Given the description of an element on the screen output the (x, y) to click on. 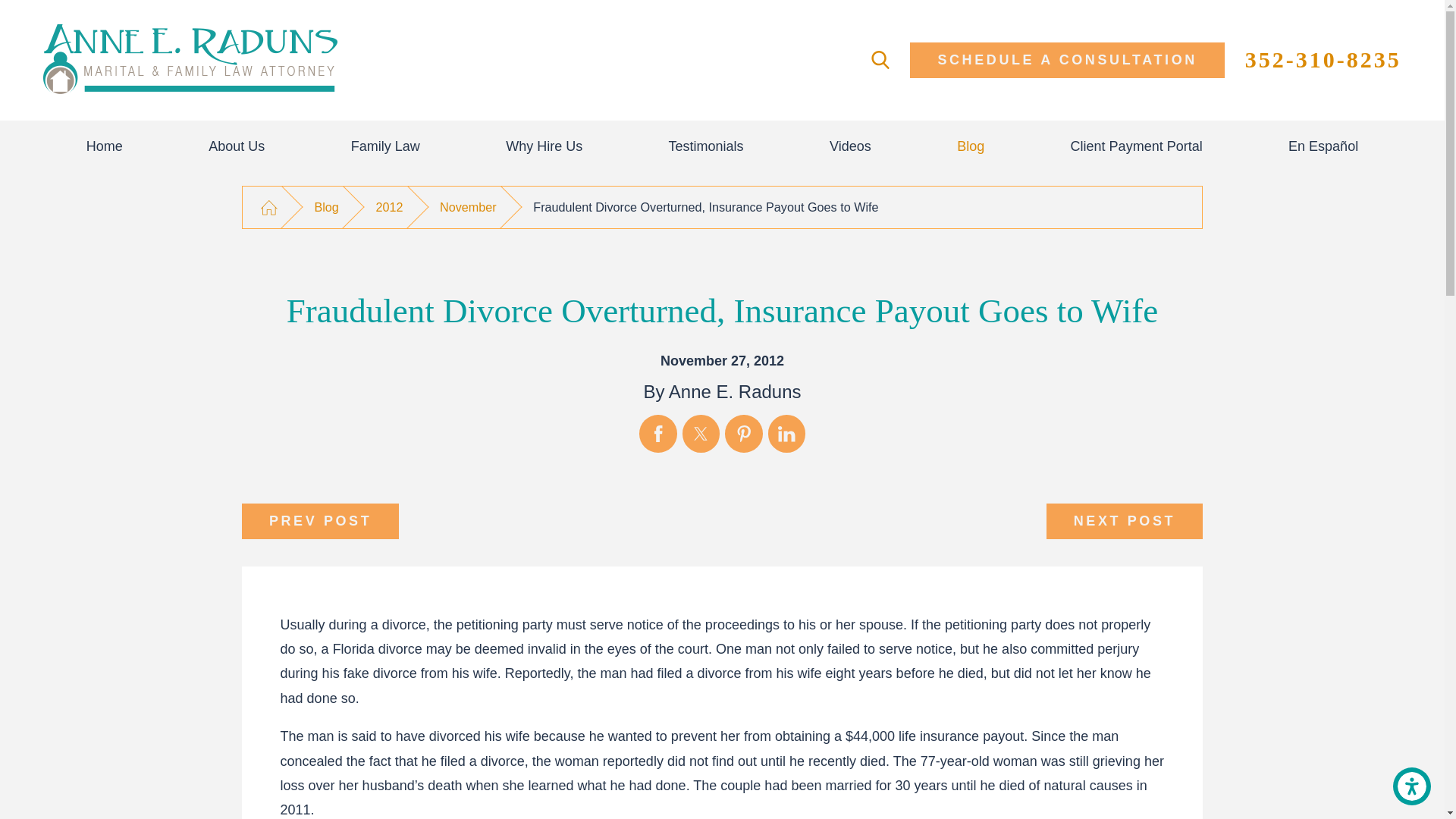
Go Home (269, 207)
Family Law (385, 145)
About Us (236, 145)
SCHEDULE A CONSULTATION (1067, 59)
Search Our Site (879, 59)
352-310-8235 (1322, 59)
Anne E. Raduns, PA (190, 59)
Open the accessibility options menu (1412, 786)
Home (104, 145)
